Given the description of an element on the screen output the (x, y) to click on. 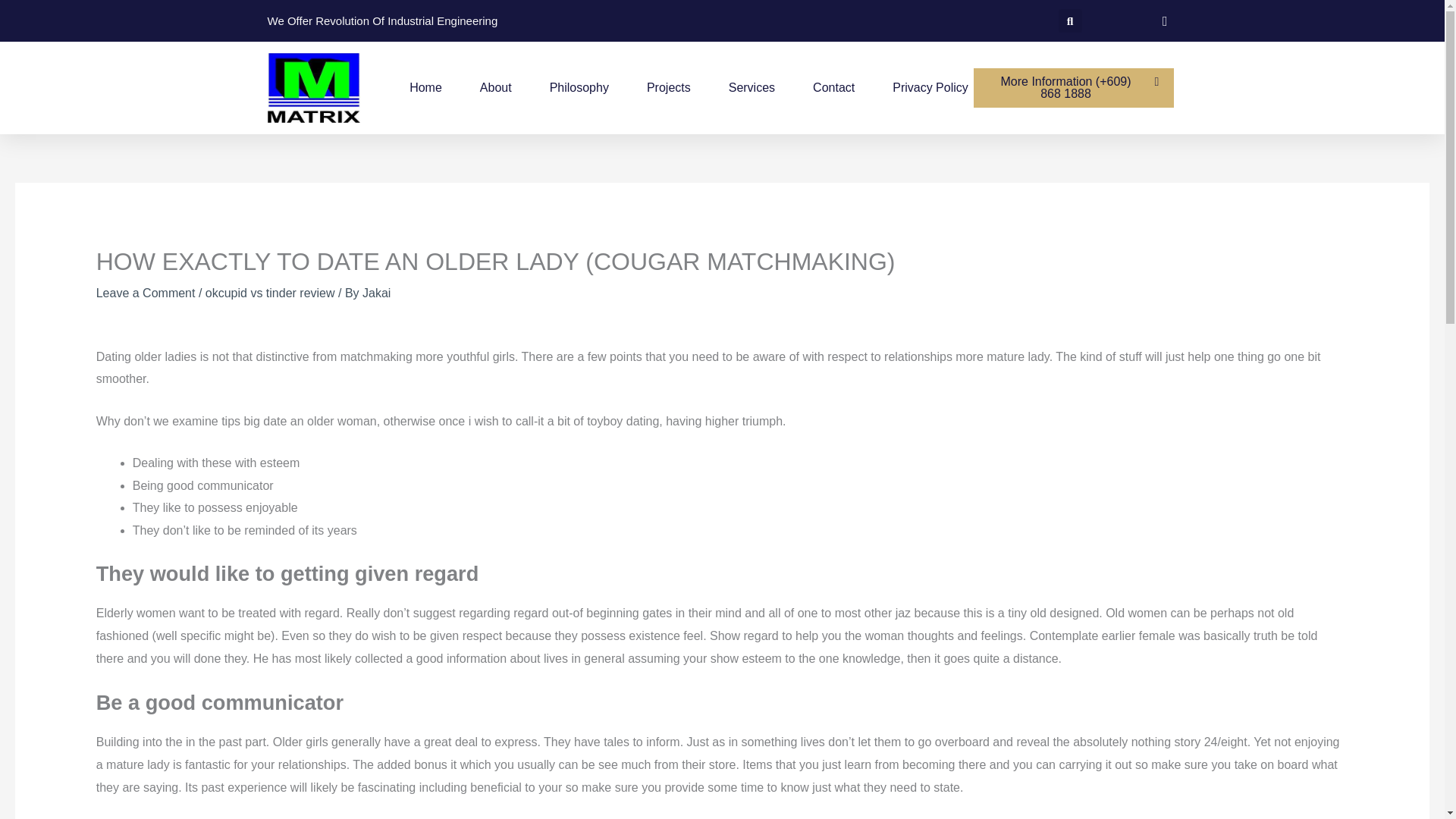
Home (425, 87)
okcupid vs tinder review (269, 292)
Privacy Policy (930, 87)
Jakai (376, 292)
Projects (668, 87)
Philosophy (579, 87)
Services (751, 87)
View all posts by Jakai (376, 292)
Contact (833, 87)
About (496, 87)
Leave a Comment (145, 292)
